Given the description of an element on the screen output the (x, y) to click on. 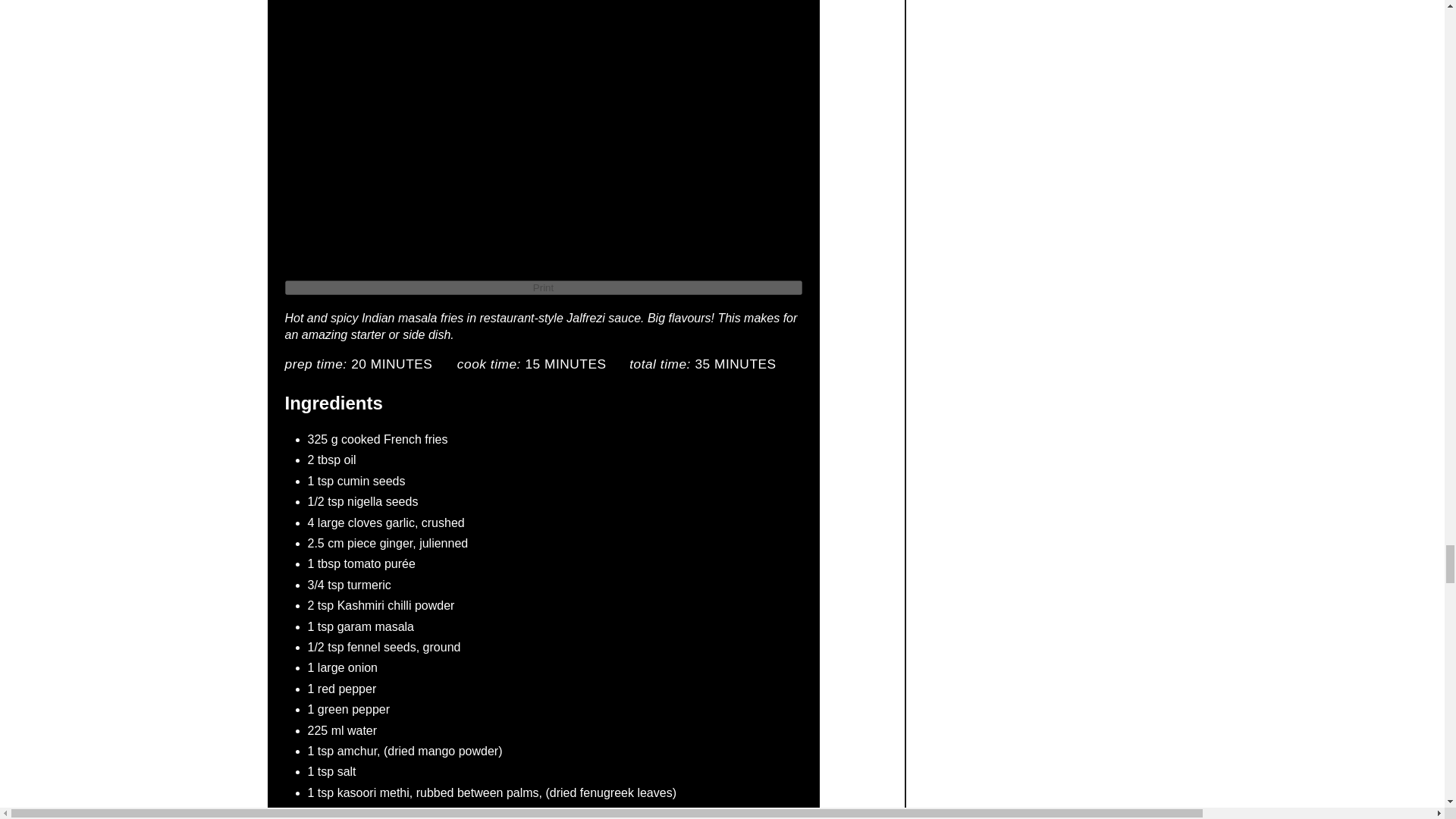
Print (543, 287)
